Given the description of an element on the screen output the (x, y) to click on. 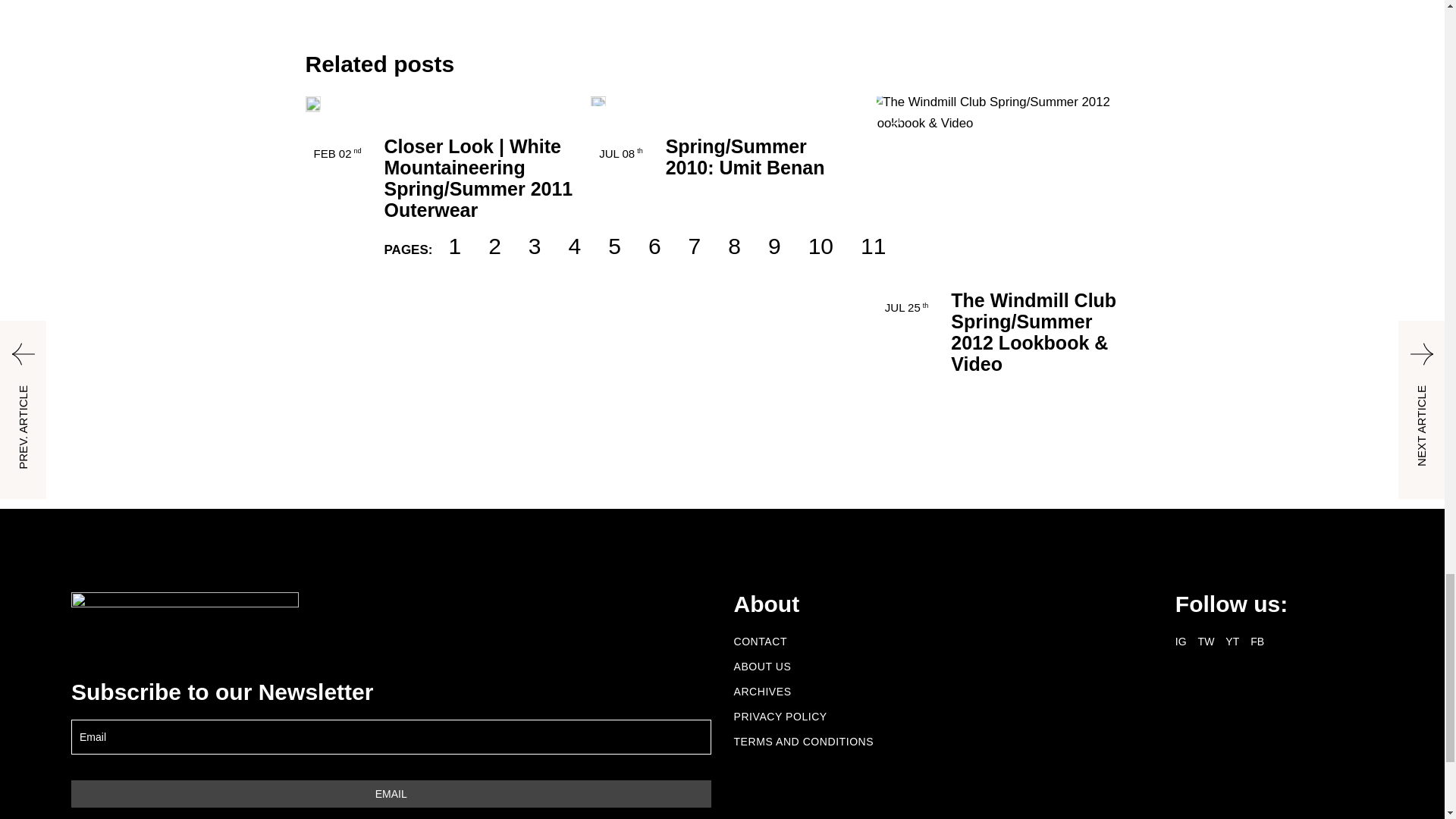
Email (391, 793)
